Given the description of an element on the screen output the (x, y) to click on. 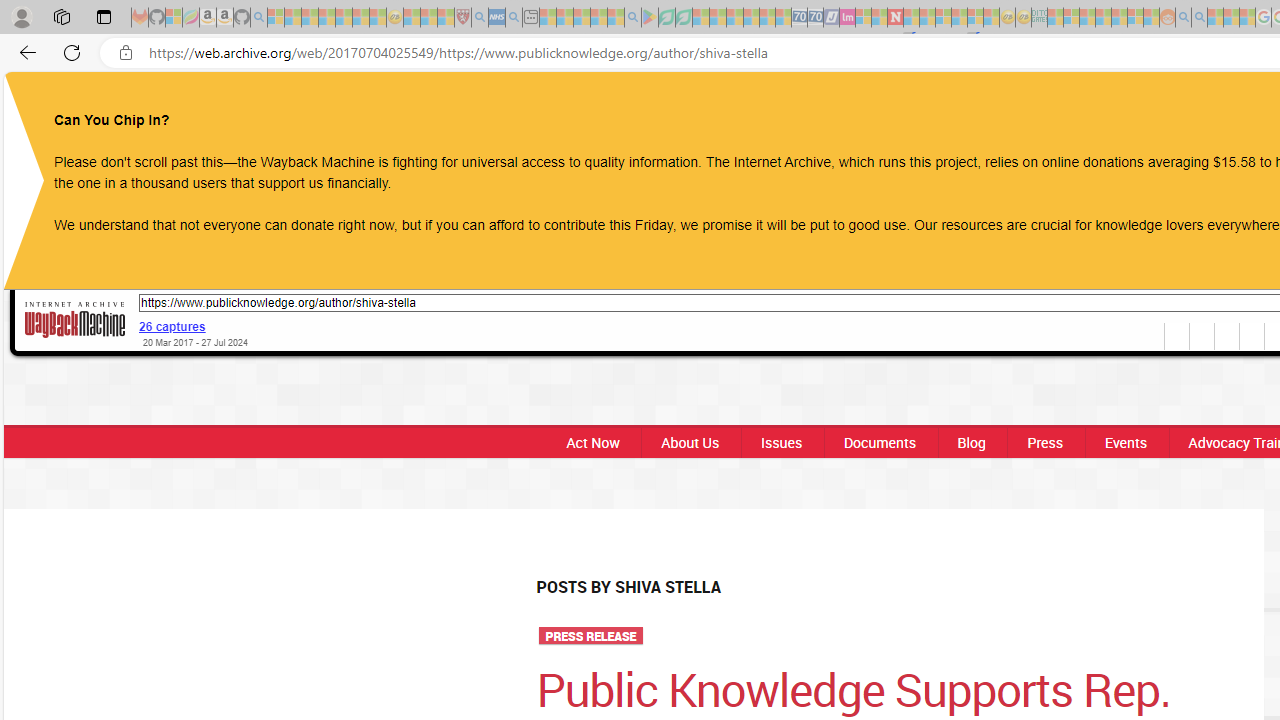
Wayback Machine (75, 321)
Documents (879, 442)
Press (1045, 442)
Wayback Machine (75, 319)
Blog (970, 442)
